Given the description of an element on the screen output the (x, y) to click on. 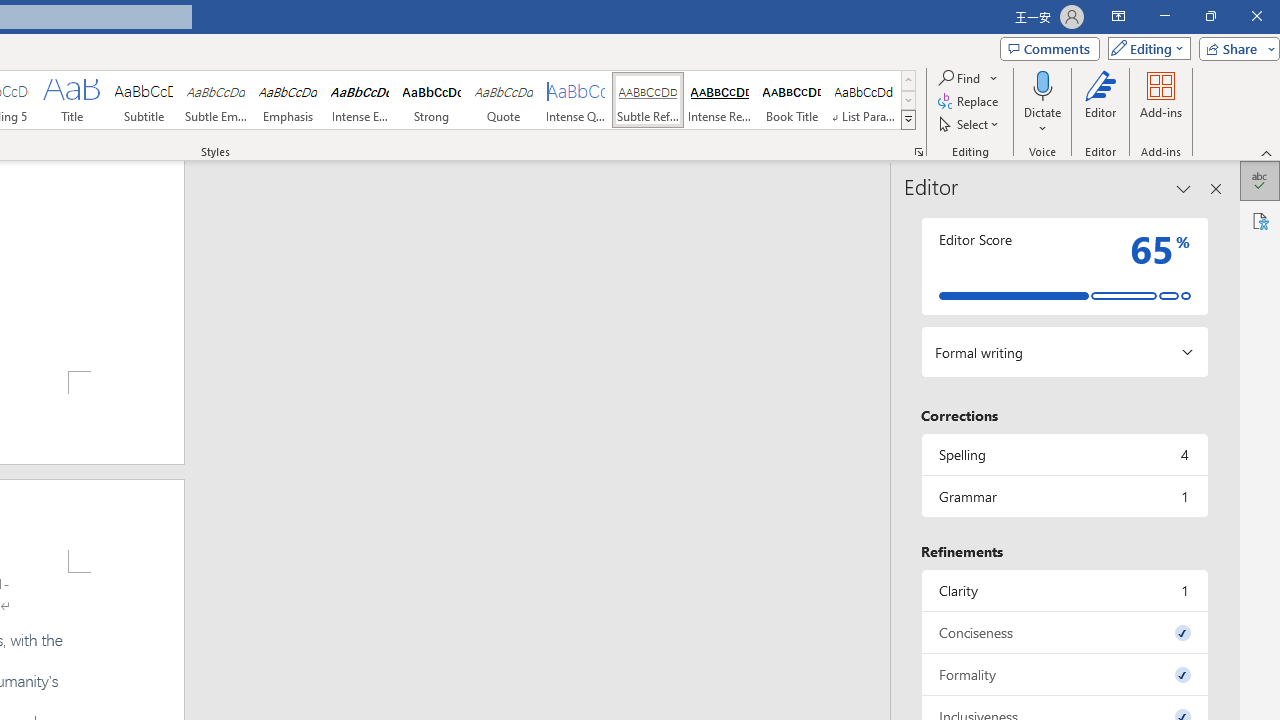
Accessibility (1260, 220)
Editor Score 65% (1064, 266)
Formality, 0 issues. Press space or enter to review items. (1064, 673)
